Given the description of an element on the screen output the (x, y) to click on. 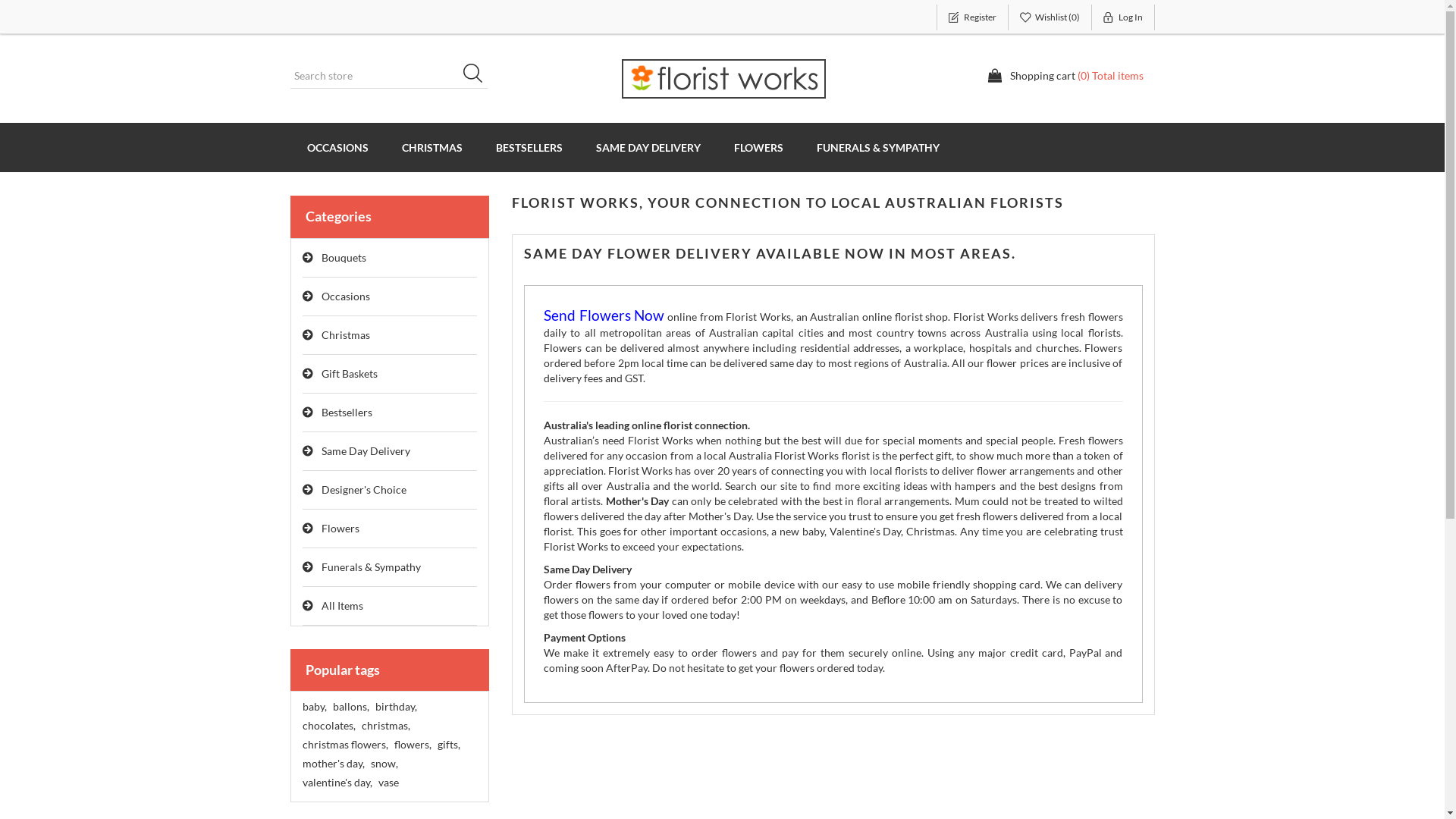
gifts, Element type: text (447, 744)
baby, Element type: text (313, 706)
Funerals & Sympathy Element type: text (388, 567)
FLOWERS Element type: text (758, 147)
flowers, Element type: text (412, 744)
Shopping cart (0) Total items Element type: text (1065, 75)
snow, Element type: text (383, 763)
chocolates, Element type: text (327, 725)
All Items Element type: text (388, 605)
FUNERALS & SYMPATHY Element type: text (877, 147)
BESTSELLERS Element type: text (529, 147)
Same Day Delivery Element type: text (388, 451)
CHRISTMAS Element type: text (432, 147)
ballons, Element type: text (350, 706)
Occasions Element type: text (388, 296)
Wishlist (0) Element type: text (1050, 17)
christmas flowers, Element type: text (344, 744)
Register Element type: text (971, 17)
Christmas Element type: text (388, 335)
Send Flowers Now Element type: text (603, 316)
vase Element type: text (387, 782)
valentine's day, Element type: text (336, 782)
Bouquets Element type: text (388, 257)
birthday, Element type: text (395, 706)
Flowers Element type: text (388, 528)
christmas, Element type: text (384, 725)
Gift Baskets Element type: text (388, 373)
SAME DAY DELIVERY Element type: text (648, 147)
Log In Element type: text (1123, 17)
Designer's Choice Element type: text (388, 489)
OCCASIONS Element type: text (336, 147)
Bestsellers Element type: text (388, 412)
mother's day, Element type: text (332, 763)
